Given the description of an element on the screen output the (x, y) to click on. 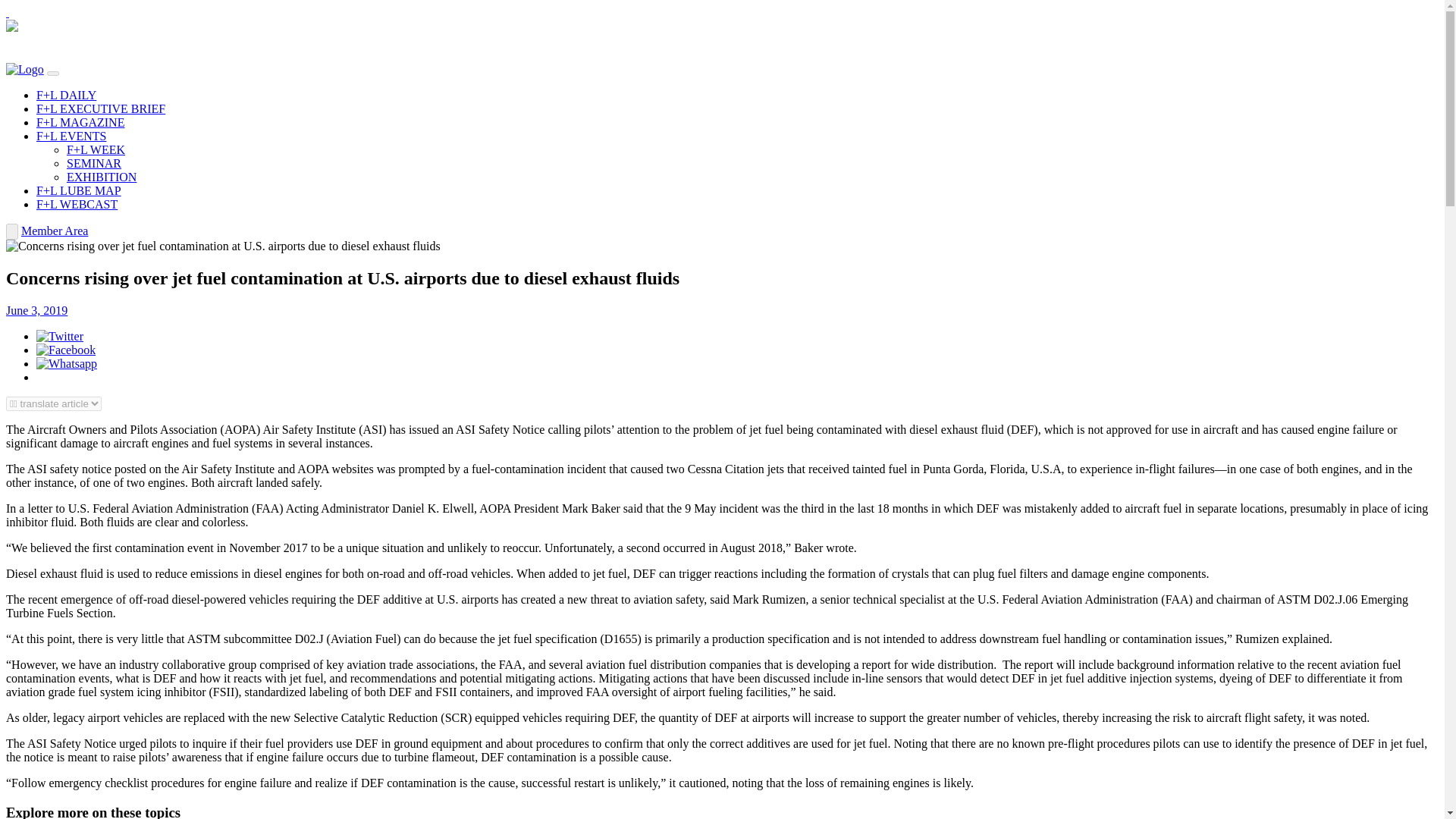
June 3, 2019 (35, 309)
EXHIBITION (101, 176)
Member Area (54, 230)
SEMINAR (93, 163)
